Given the description of an element on the screen output the (x, y) to click on. 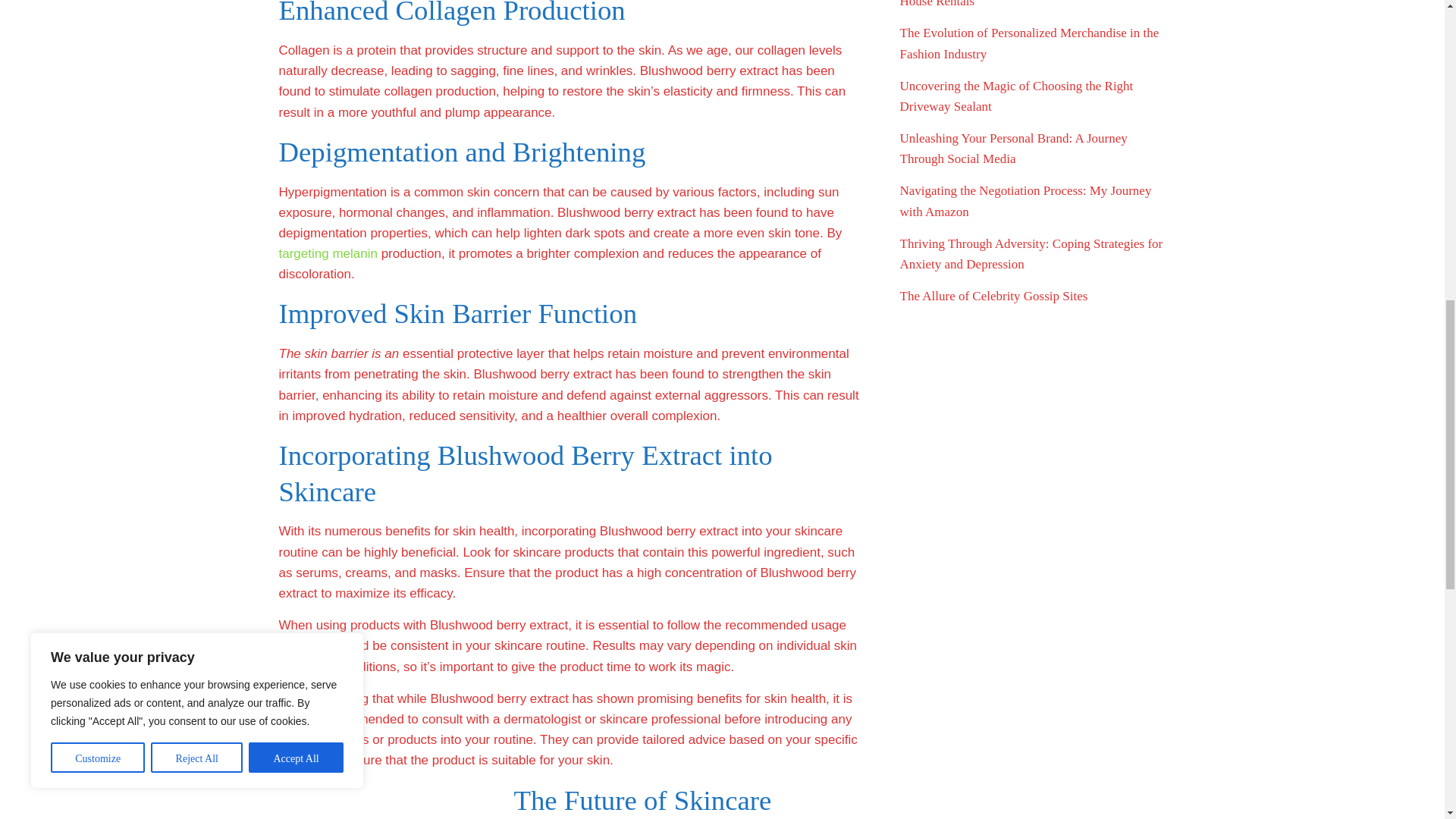
Uncovering the Magic of Choosing the Right Driveway Sealant (1015, 95)
targeting melanin (328, 253)
Transformative Moments: The Impact of Bounce House Rentals (1026, 4)
